Given the description of an element on the screen output the (x, y) to click on. 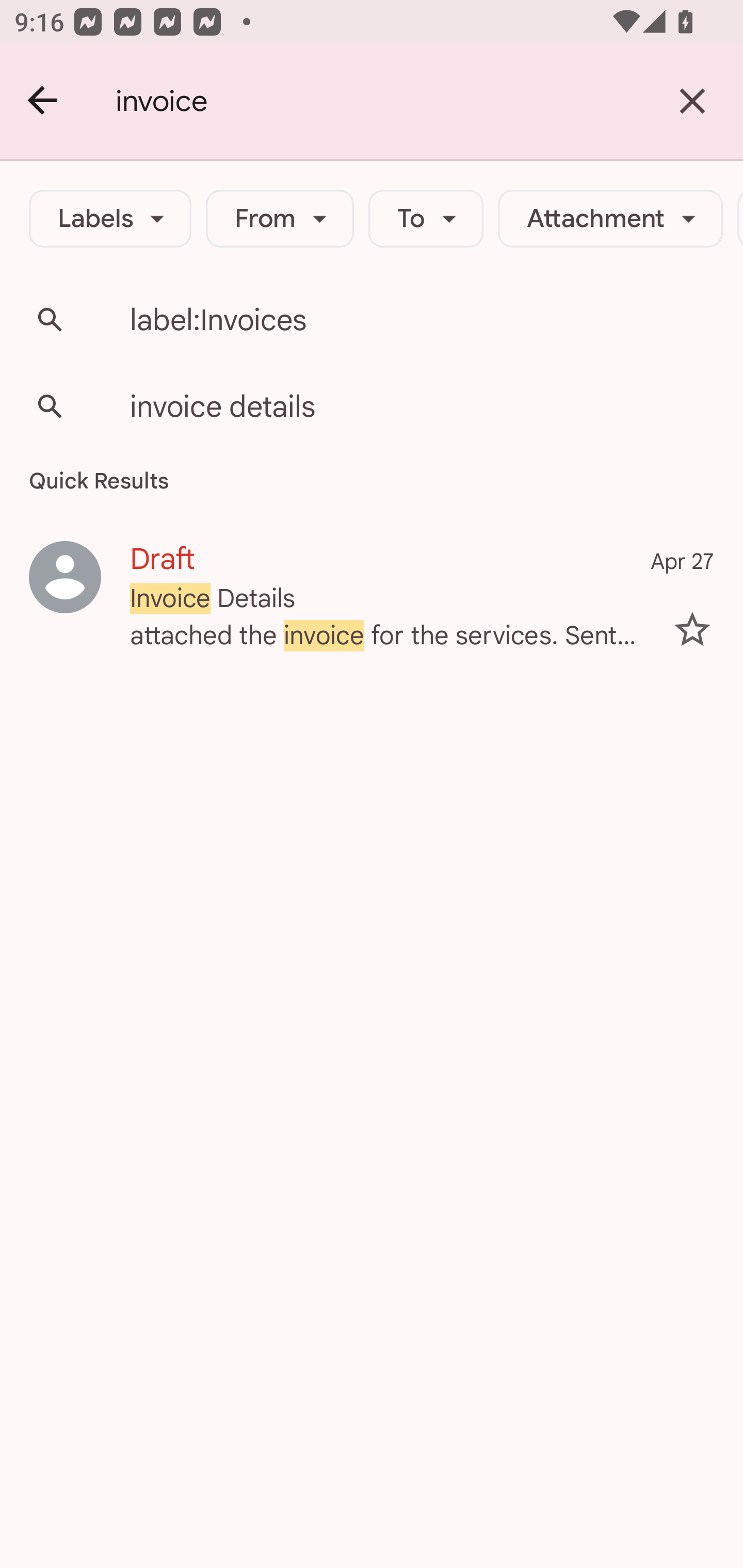
Back (43, 101)
invoice (378, 101)
Clear text (692, 101)
Labels (109, 218)
From (279, 218)
To (425, 218)
Attachment (609, 218)
label:Invoices Suggestion: label:Invoices (371, 319)
invoice details Suggestion: invoice details (371, 406)
